Given the description of an element on the screen output the (x, y) to click on. 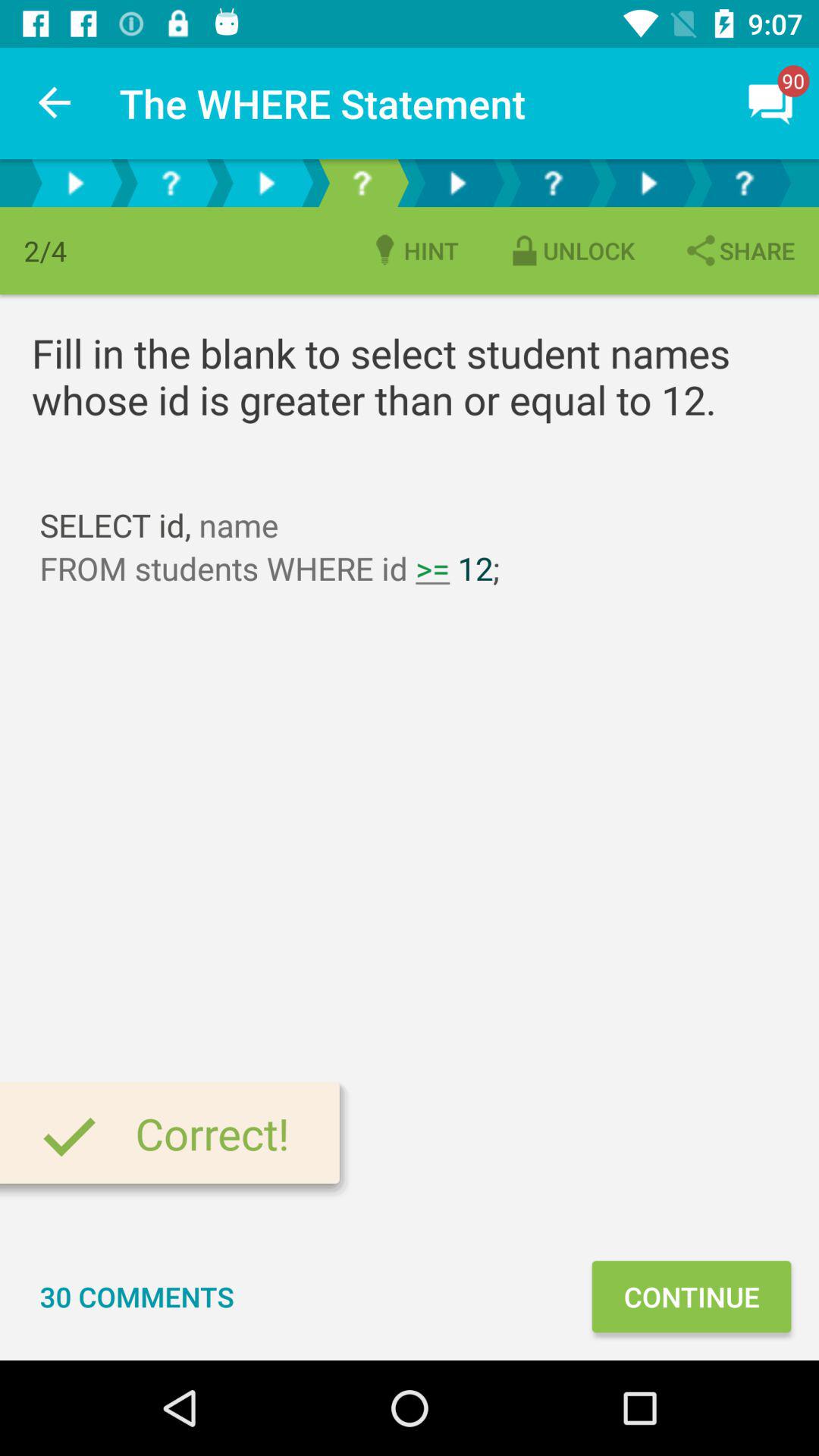
click on the third question mark in the page (552, 182)
click on the option having the text share along with an icon (739, 250)
click on continue (691, 1296)
click on 30 comments (136, 1296)
click on message icon (771, 103)
select the text between id 12 (432, 568)
click on the icon on the top image (771, 103)
click on play icon above hint (457, 182)
